Given the description of an element on the screen output the (x, y) to click on. 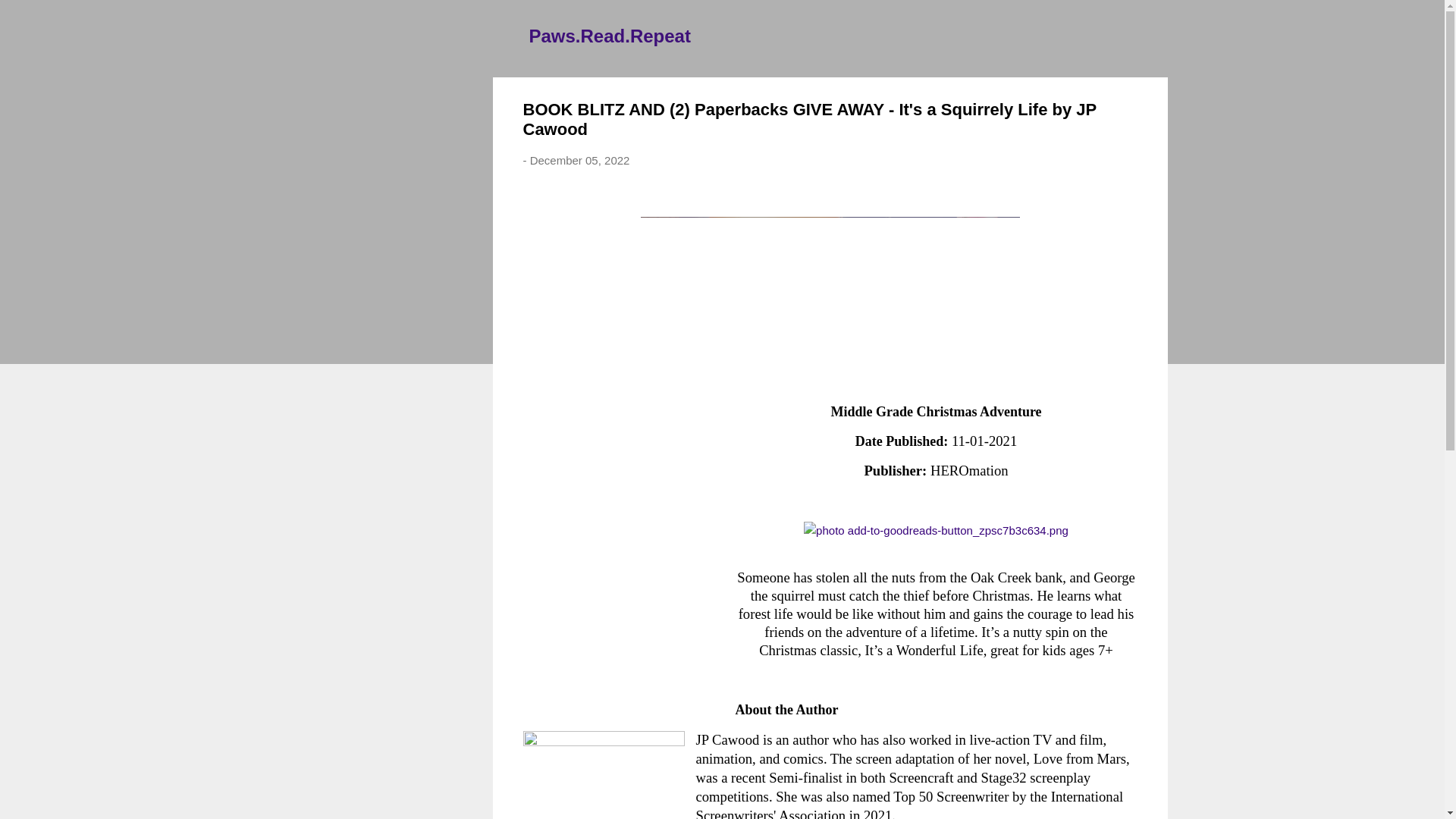
Search (29, 18)
December 05, 2022 (579, 160)
Paws.Read.Repeat (609, 35)
permanent link (579, 160)
